Given the description of an element on the screen output the (x, y) to click on. 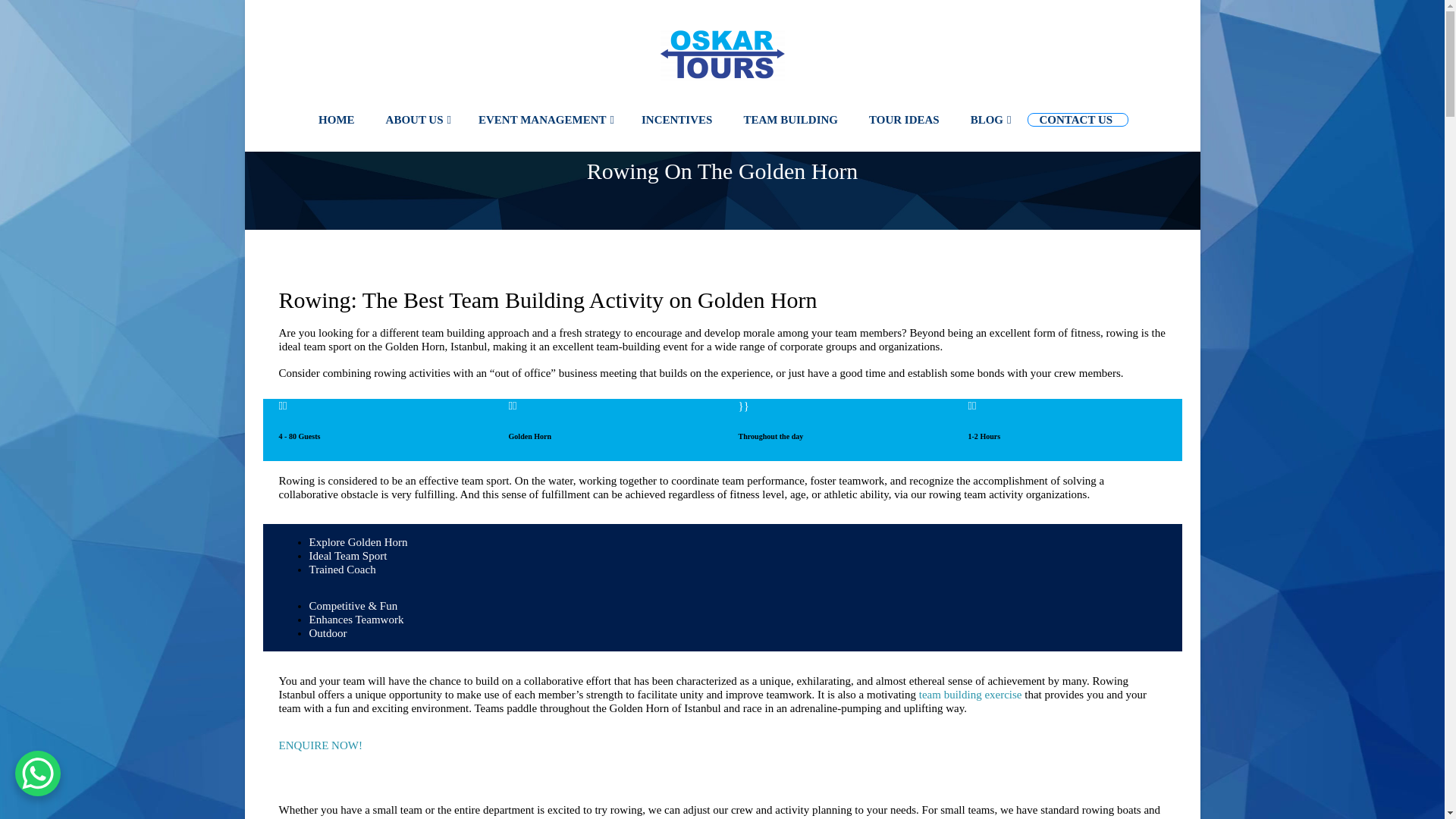
CONTACT US (1078, 119)
Contact Us (320, 745)
BLOG (991, 119)
TOUR IDEAS (906, 119)
HOME (338, 119)
INCENTIVES (678, 119)
ABOUT US (418, 119)
ENQUIRE NOW! (320, 745)
EVENT MANAGEMENT (546, 119)
TEAM BUILDING (792, 119)
team building exercise (970, 694)
